Given the description of an element on the screen output the (x, y) to click on. 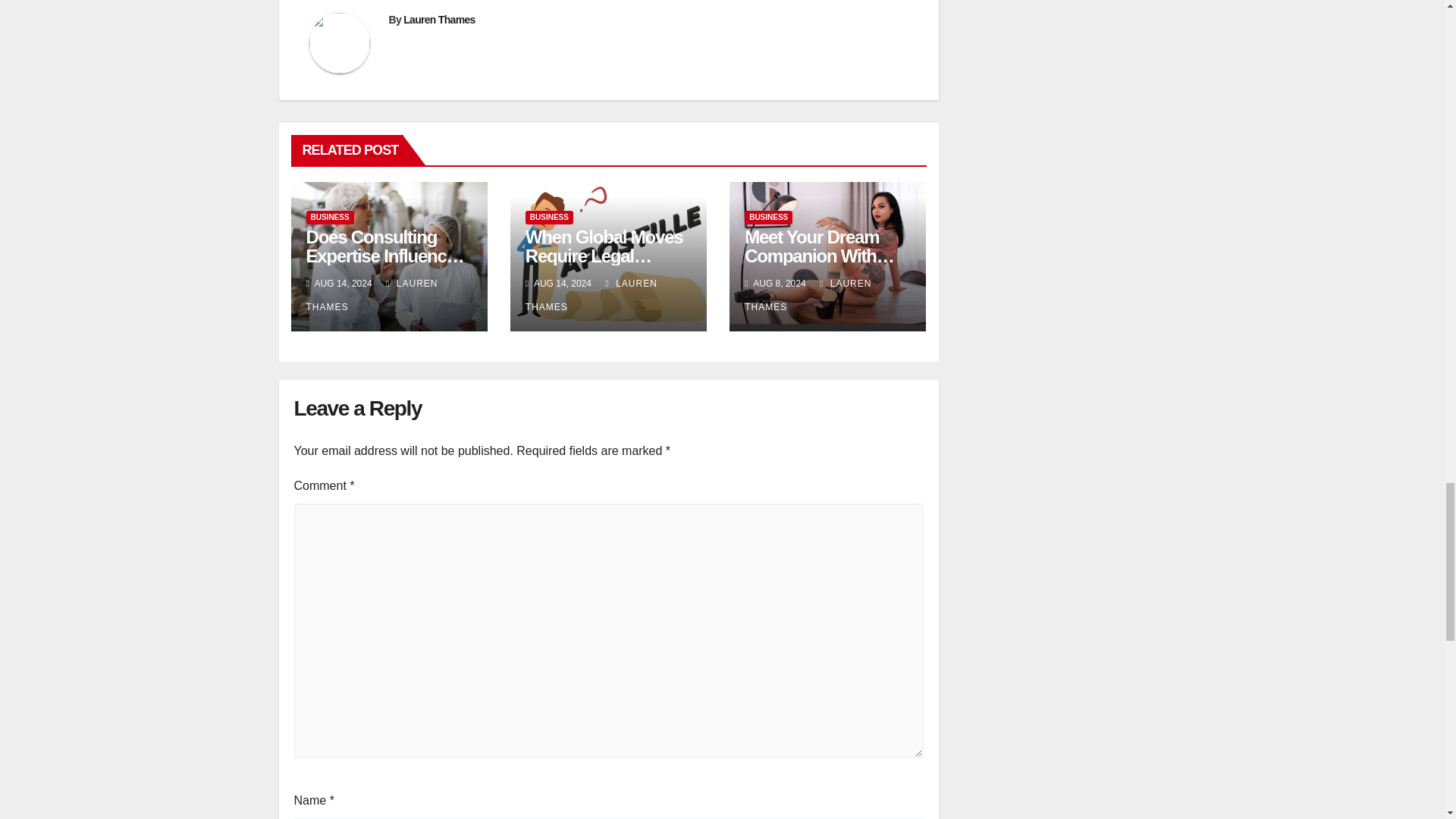
BUSINESS (329, 217)
Lauren Thames (438, 19)
LAUREN THAMES (371, 295)
Does Consulting Expertise Influence Consumer Preferences? (384, 264)
BUSINESS (549, 217)
